Given the description of an element on the screen output the (x, y) to click on. 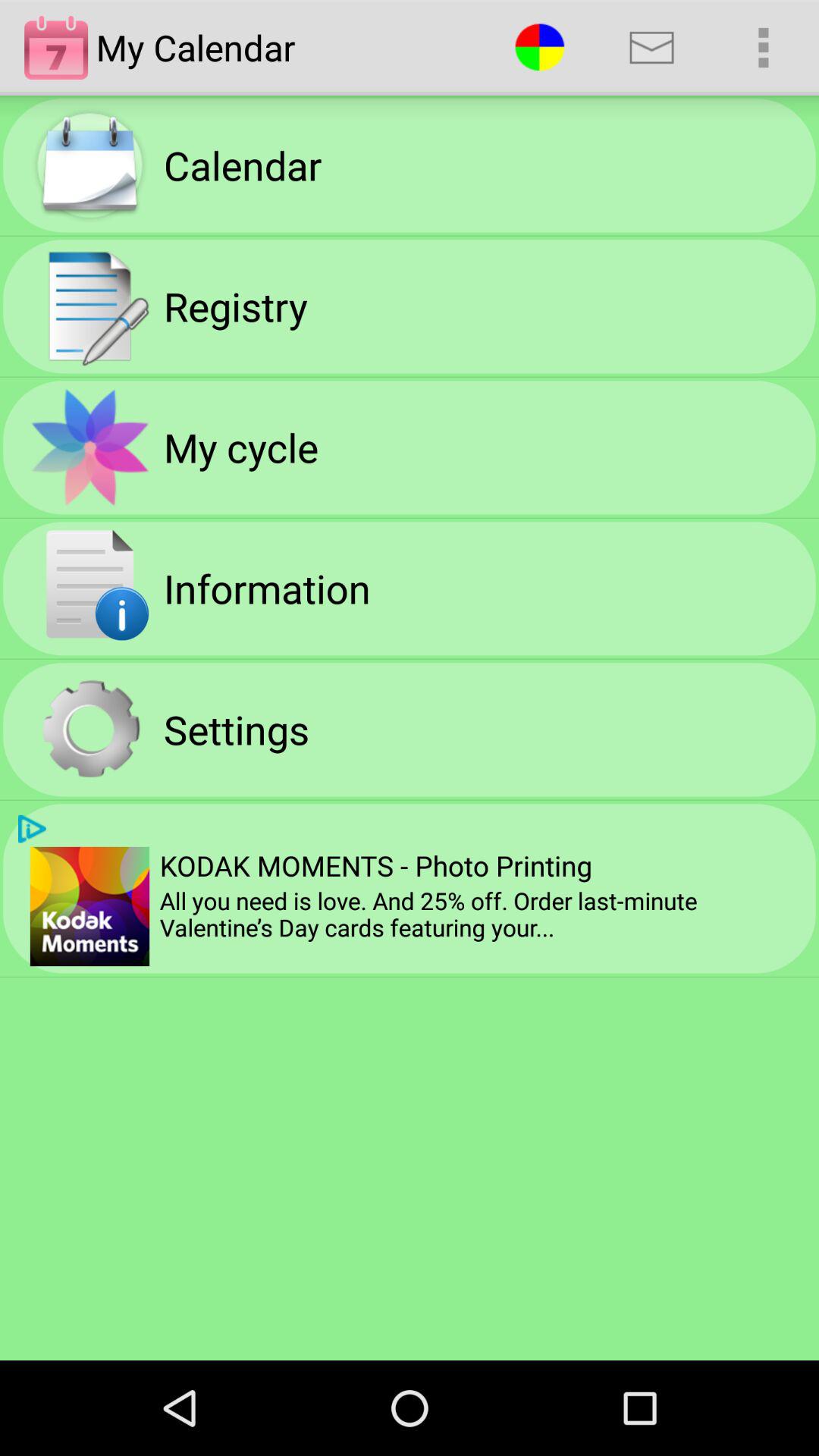
turn on icon next to kodak moments photo icon (89, 906)
